Given the description of an element on the screen output the (x, y) to click on. 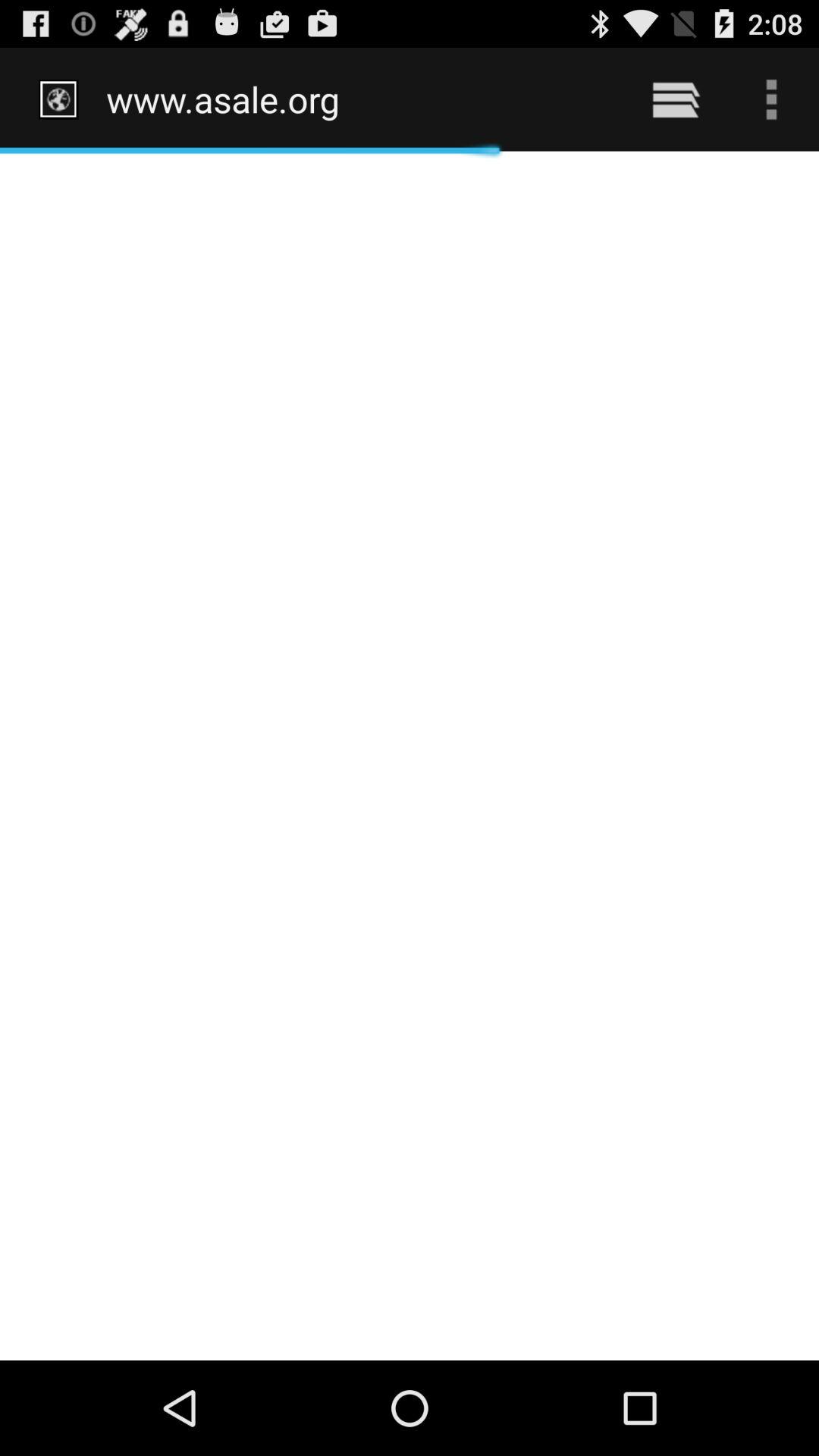
turn on item to the right of the http www asale item (675, 99)
